Given the description of an element on the screen output the (x, y) to click on. 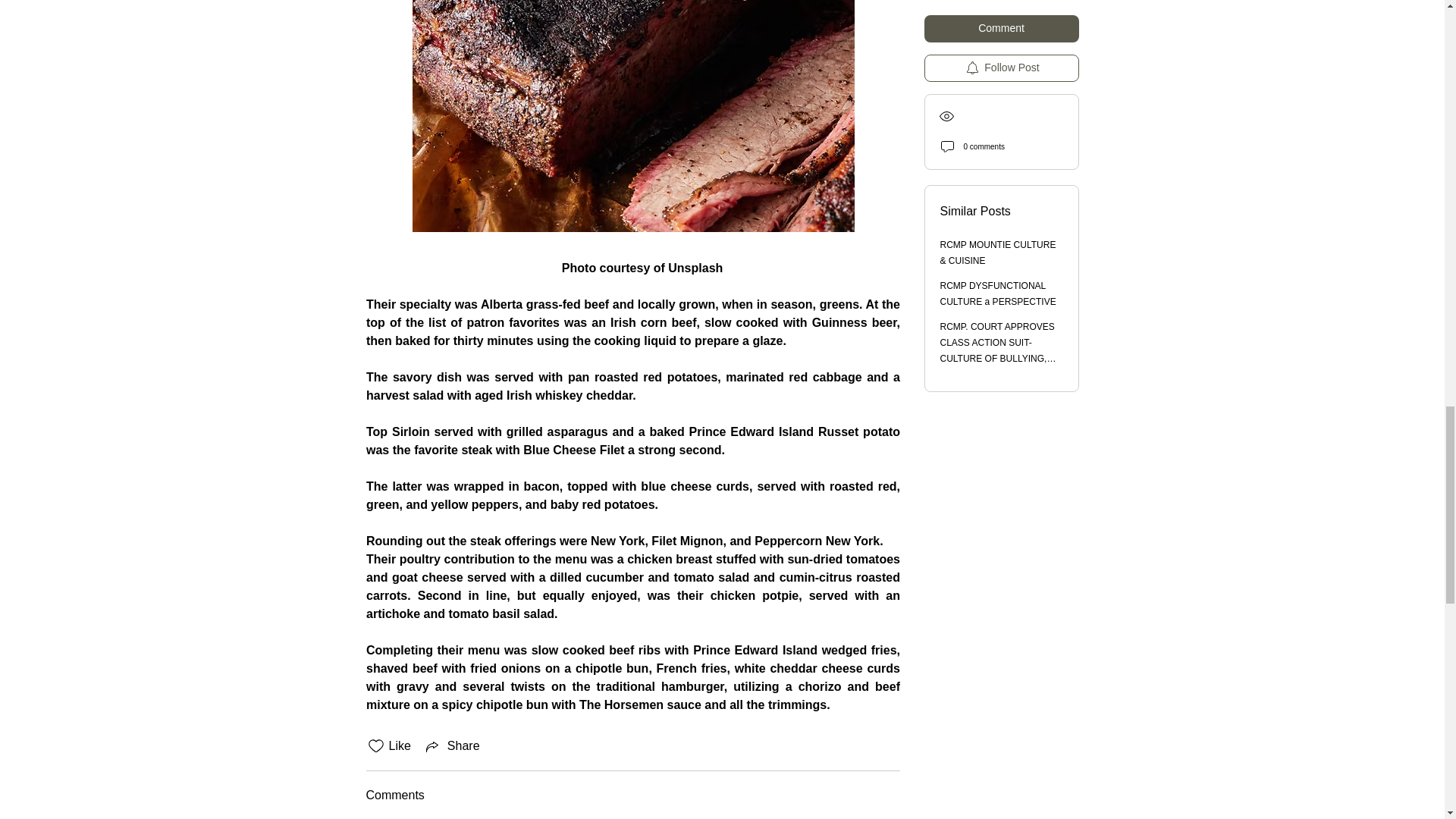
Share (451, 746)
